Given the description of an element on the screen output the (x, y) to click on. 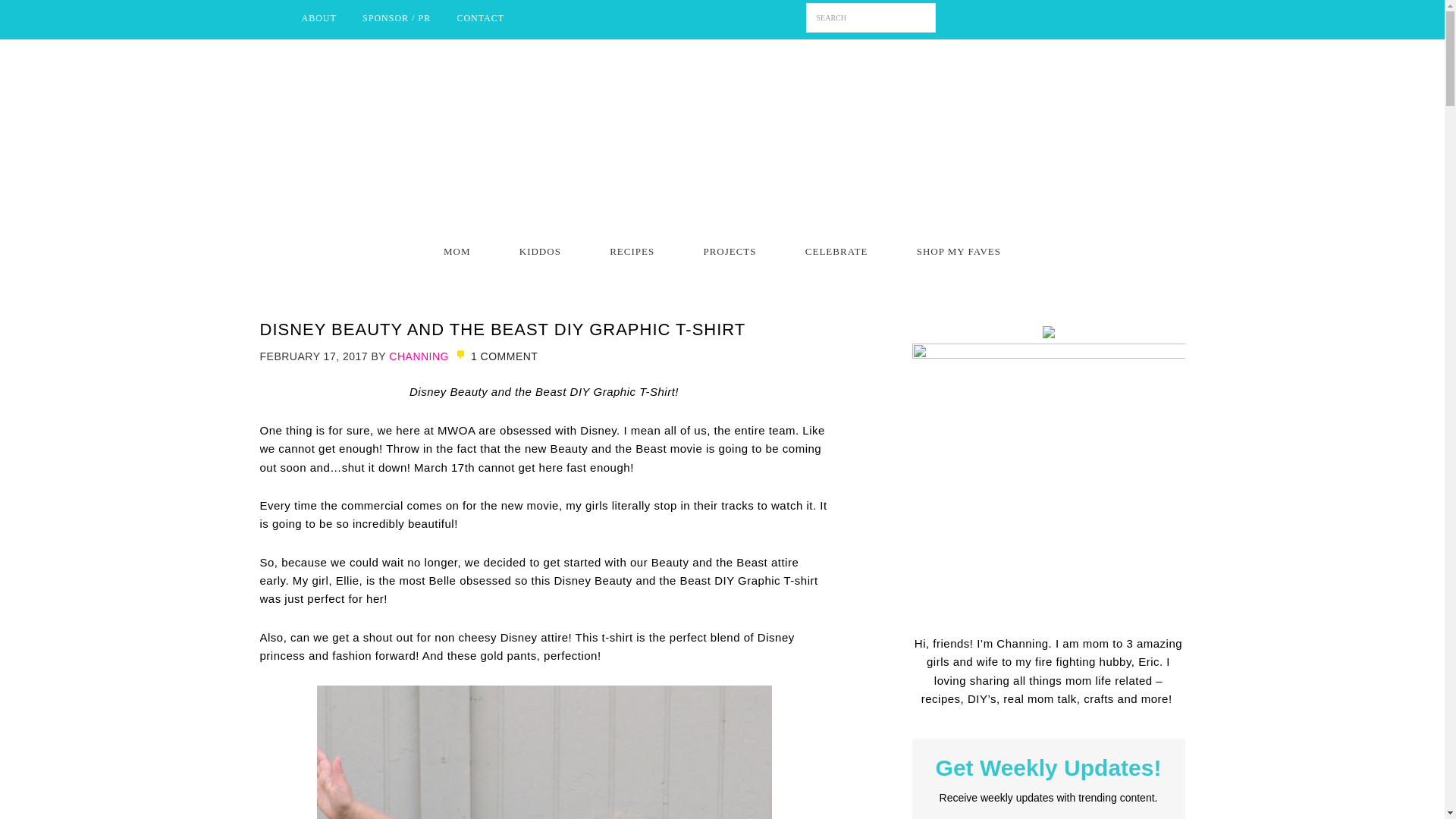
ABOUT (318, 18)
1 COMMENT (494, 356)
SHOP MY FAVES (958, 251)
CHANNING (418, 356)
KIDDOS (539, 251)
PROJECTS (728, 251)
RECIPES (631, 251)
CELEBRATE (837, 251)
CONTACT (480, 18)
MOM (456, 251)
